Given the description of an element on the screen output the (x, y) to click on. 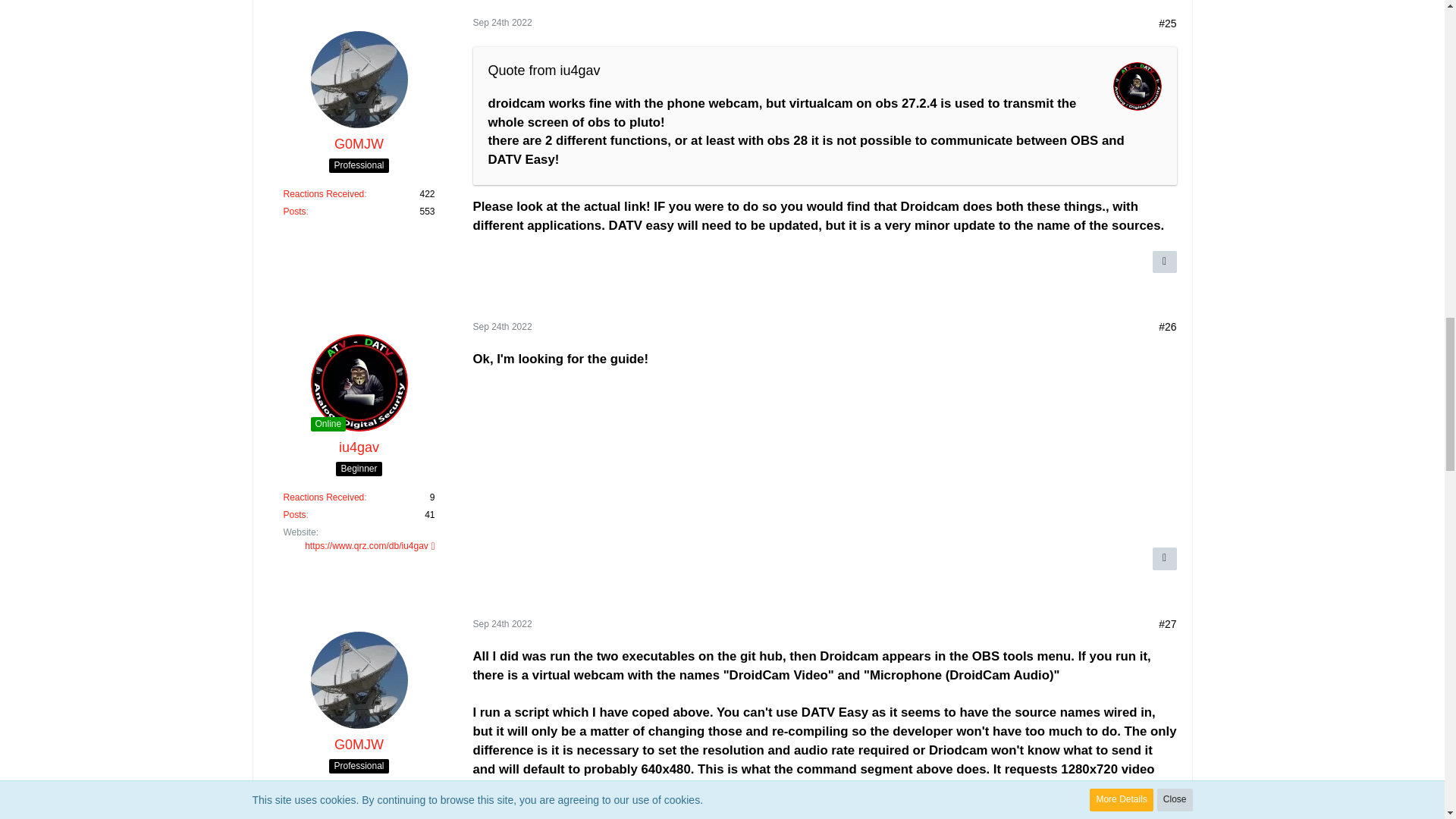
iu4gav is online (328, 423)
